Given the description of an element on the screen output the (x, y) to click on. 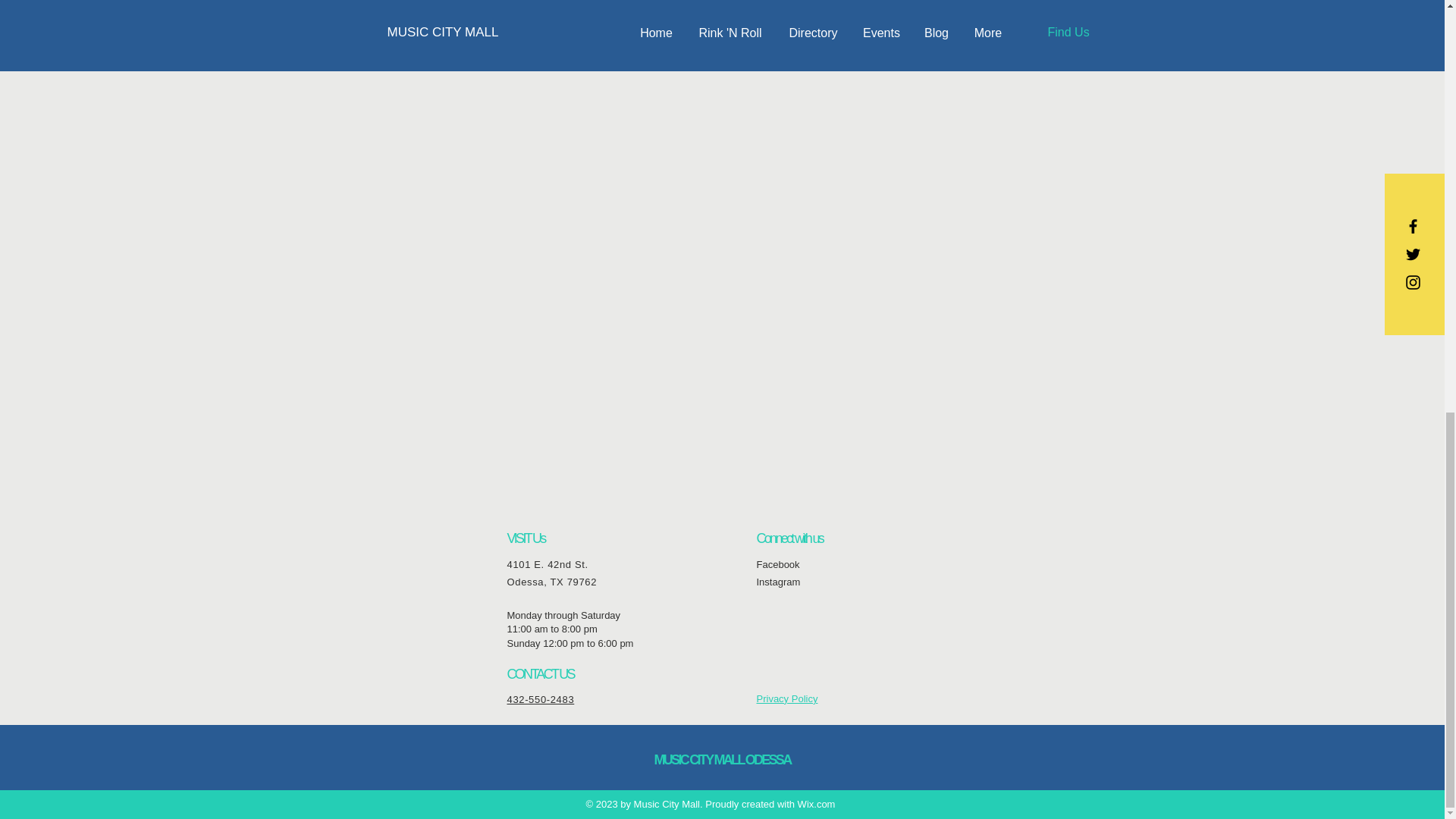
Instagram (778, 582)
Privacy Policy (787, 698)
Facebook (778, 564)
Wix.com (816, 803)
432-550-2483 (539, 699)
